Given the description of an element on the screen output the (x, y) to click on. 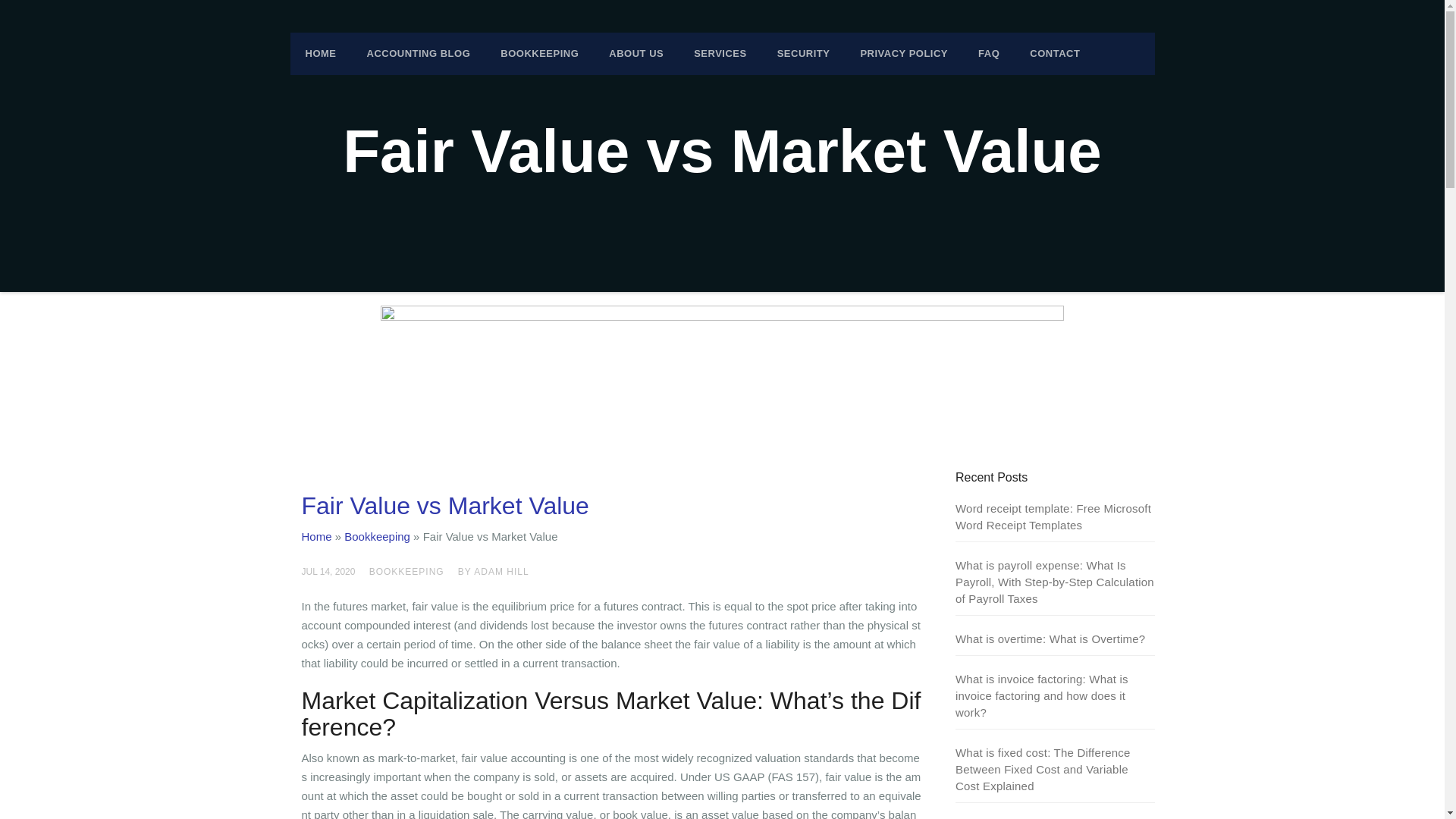
BOOKKEEPING (539, 53)
Bookkeeping (376, 535)
PRIVACY POLICY (903, 53)
BOOKKEEPING (406, 571)
SERVICES (719, 53)
CONTACT (1054, 53)
Home (316, 535)
BY ADAM HILL (493, 571)
HOME (319, 53)
ABOUT US (636, 53)
Fair Value vs Market Value (445, 505)
Word receipt template: Free Microsoft Word Receipt Templates (1053, 516)
